Given the description of an element on the screen output the (x, y) to click on. 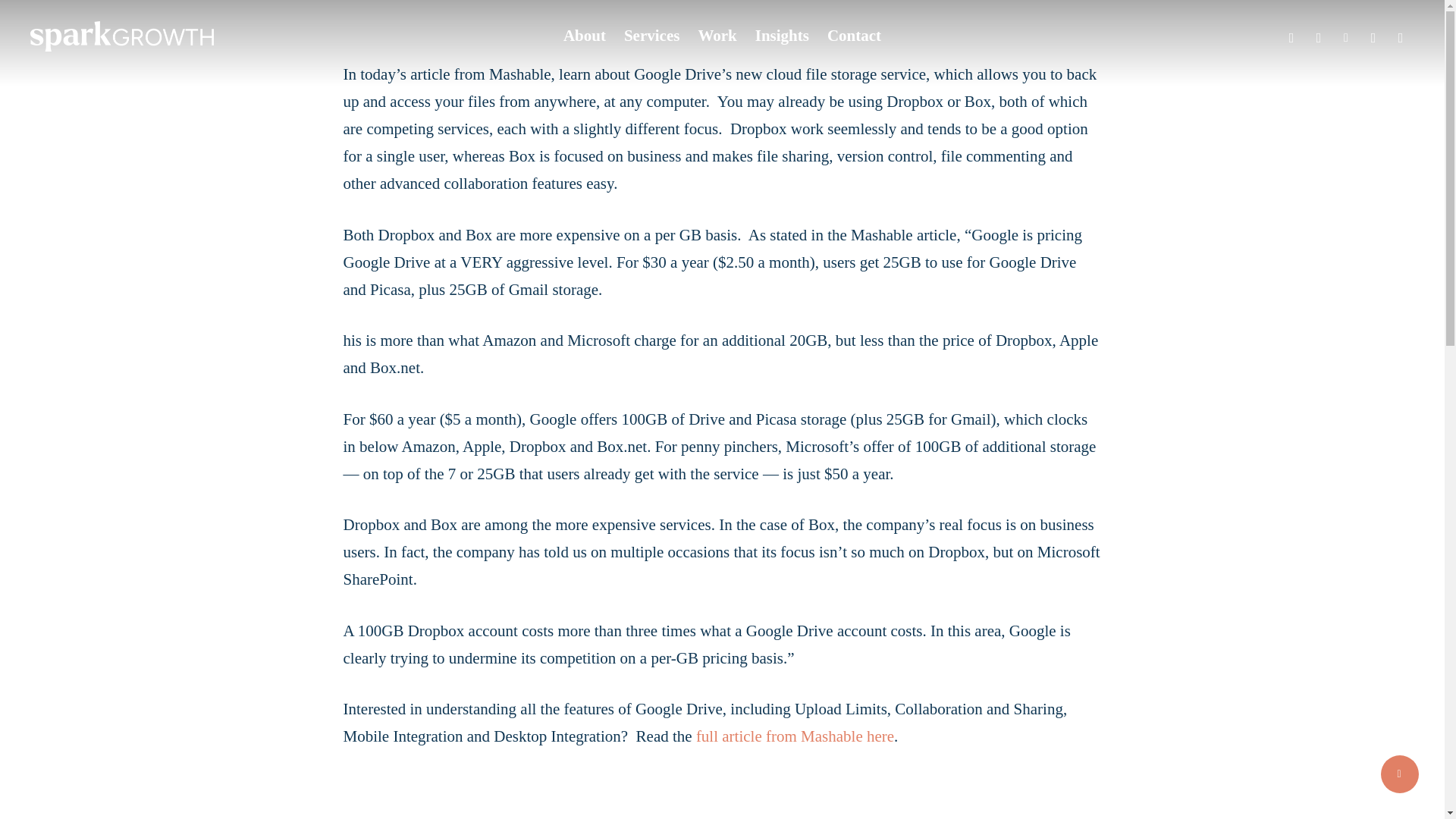
Facebook (1373, 36)
Work (716, 35)
Instagram (1291, 36)
About (584, 35)
full article from Mashable here (794, 736)
Services (651, 35)
Linkedin (1318, 36)
Tiktok (1345, 36)
X-Twitter (1400, 36)
Contact (853, 35)
Insights (782, 35)
